Given the description of an element on the screen output the (x, y) to click on. 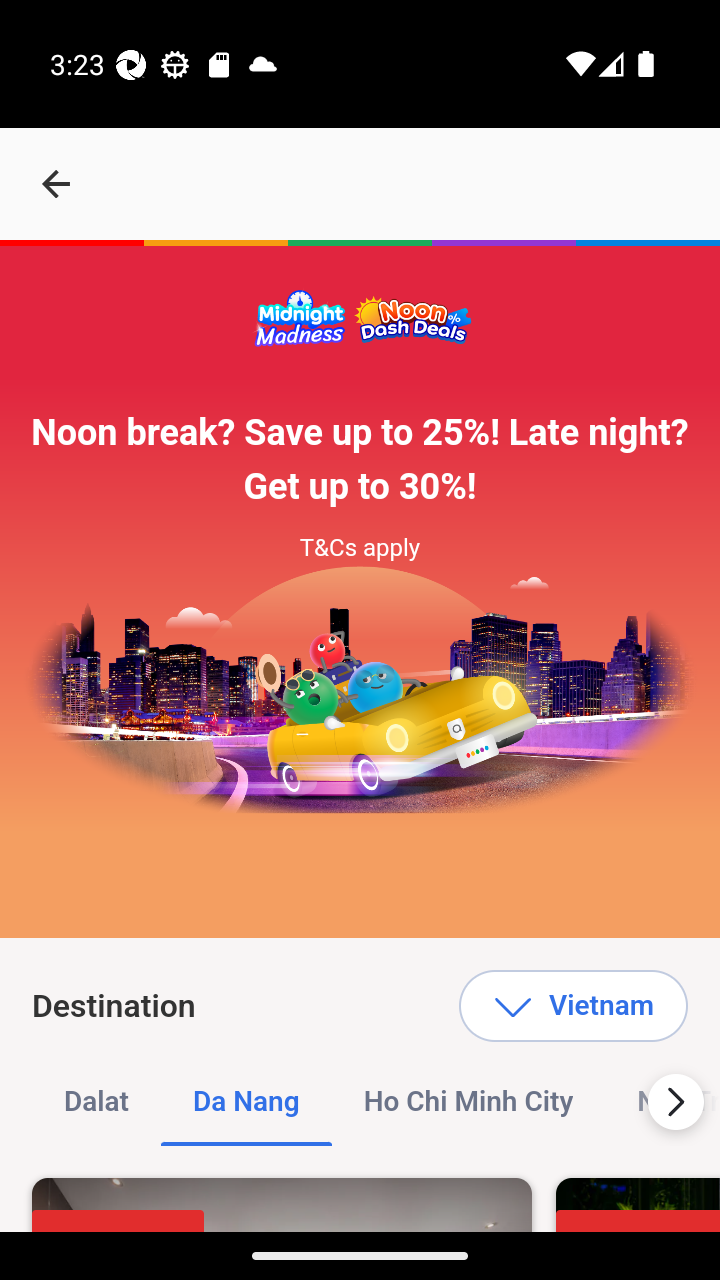
navigation_button (56, 184)
Vietnam (572, 1005)
Dalat (97, 1101)
Da Nang (245, 1101)
Ho Chi Minh City (467, 1101)
